Given the description of an element on the screen output the (x, y) to click on. 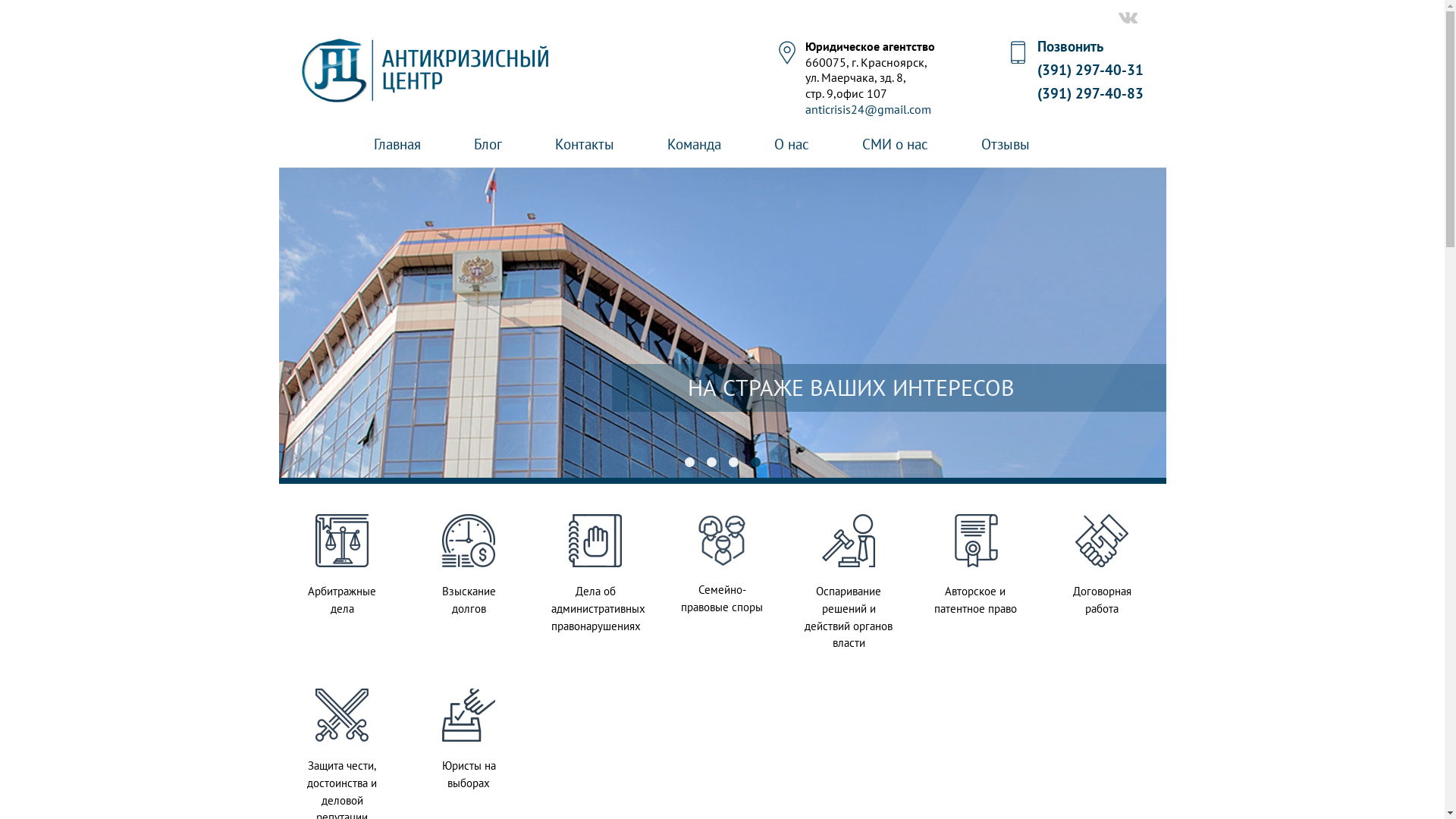
(391) 297-40-83 Element type: text (1090, 93)
3 Element type: text (732, 462)
4 Element type: text (755, 462)
2 Element type: text (711, 462)
(391) 297-40-31 Element type: text (1090, 69)
anticrisis24@gmail.com Element type: text (868, 108)
1 Element type: text (688, 462)
